Given the description of an element on the screen output the (x, y) to click on. 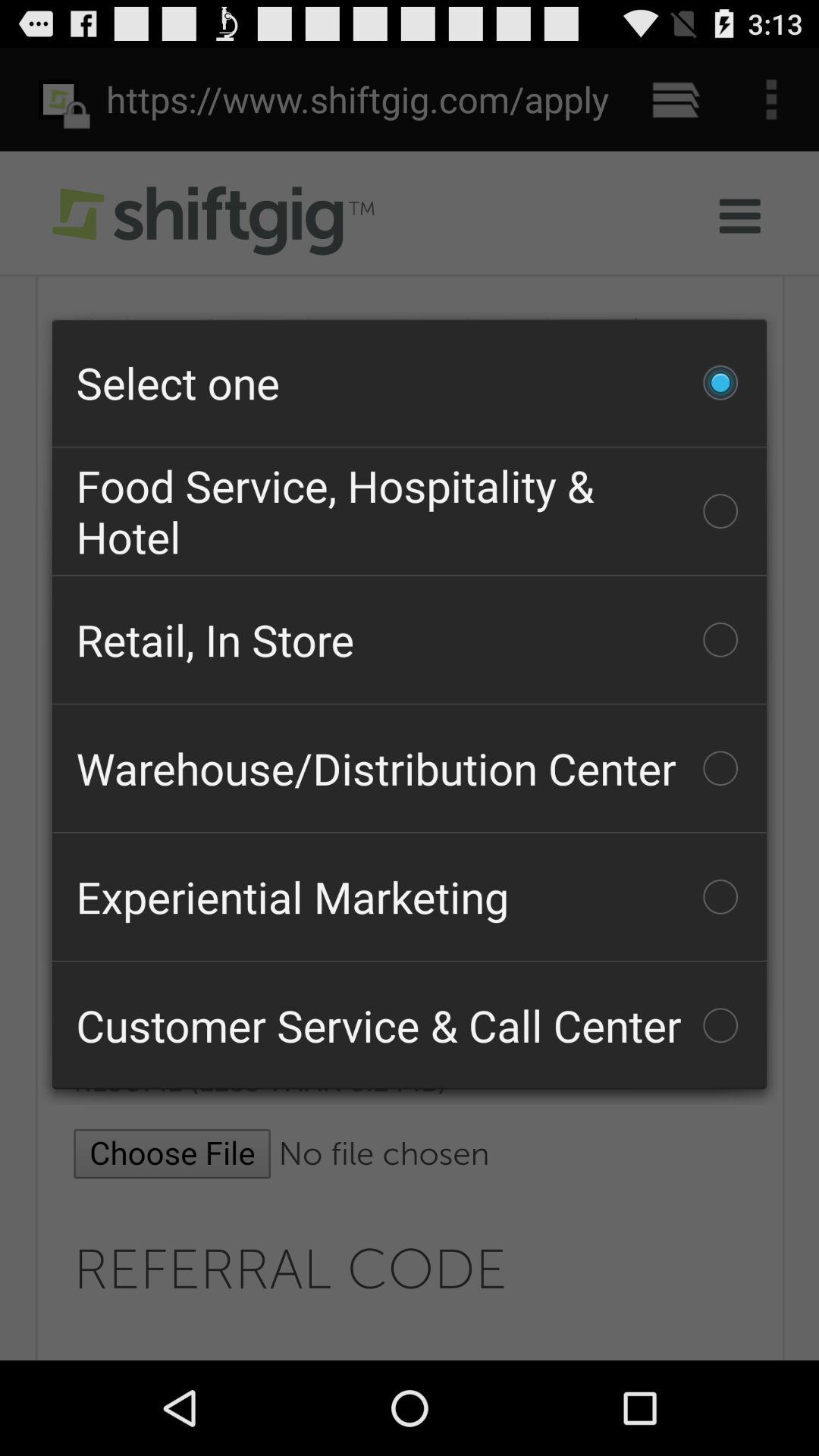
flip until customer service call item (409, 1025)
